Given the description of an element on the screen output the (x, y) to click on. 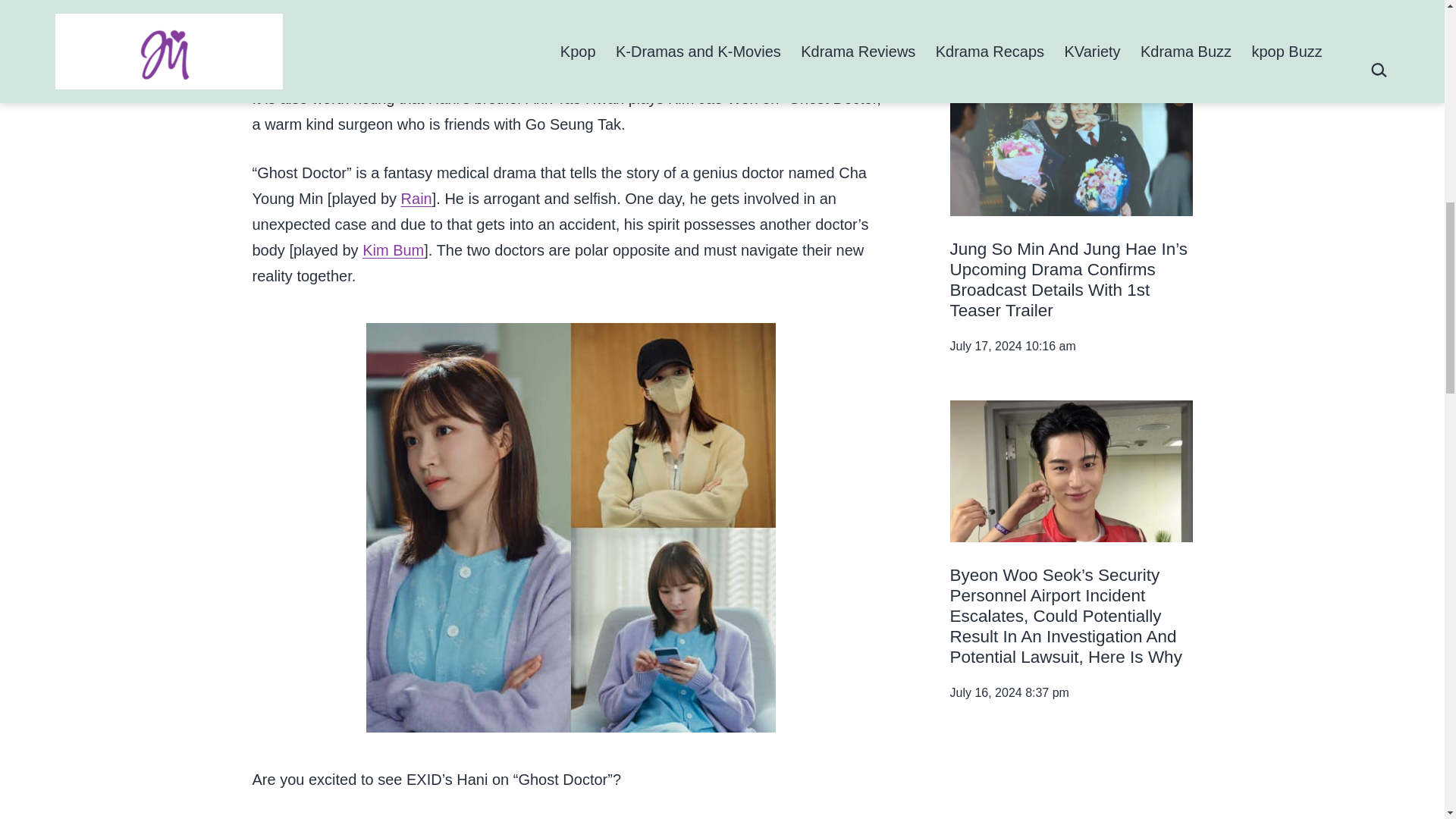
Signal (1070, 782)
Byeon Woo Seok (1070, 471)
Jung So Min And Jung Hae In (1070, 146)
Rain (416, 198)
Kim Bum (392, 249)
